Given the description of an element on the screen output the (x, y) to click on. 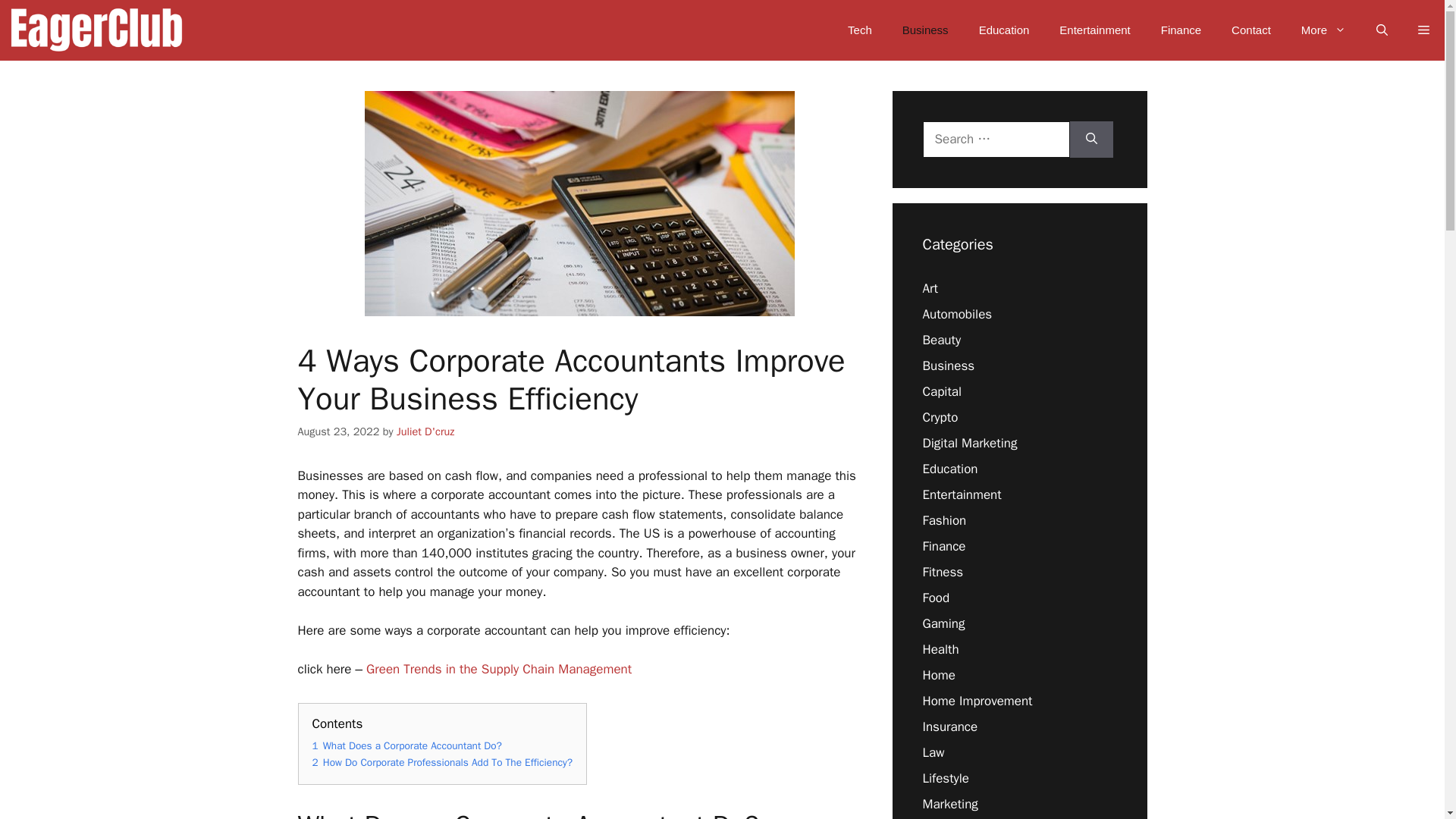
Art (929, 288)
Tech (859, 30)
Search for: (994, 139)
2 How Do Corporate Professionals Add To The Efficiency? (443, 762)
Business (947, 365)
Digital Marketing (968, 442)
Crypto (939, 417)
Finance (1180, 30)
More (1323, 30)
Juliet D'cruz (425, 431)
Education (1004, 30)
Business (924, 30)
1 What Does a Corporate Accountant Do? (407, 745)
EagerClub (95, 30)
Entertainment (1093, 30)
